Given the description of an element on the screen output the (x, y) to click on. 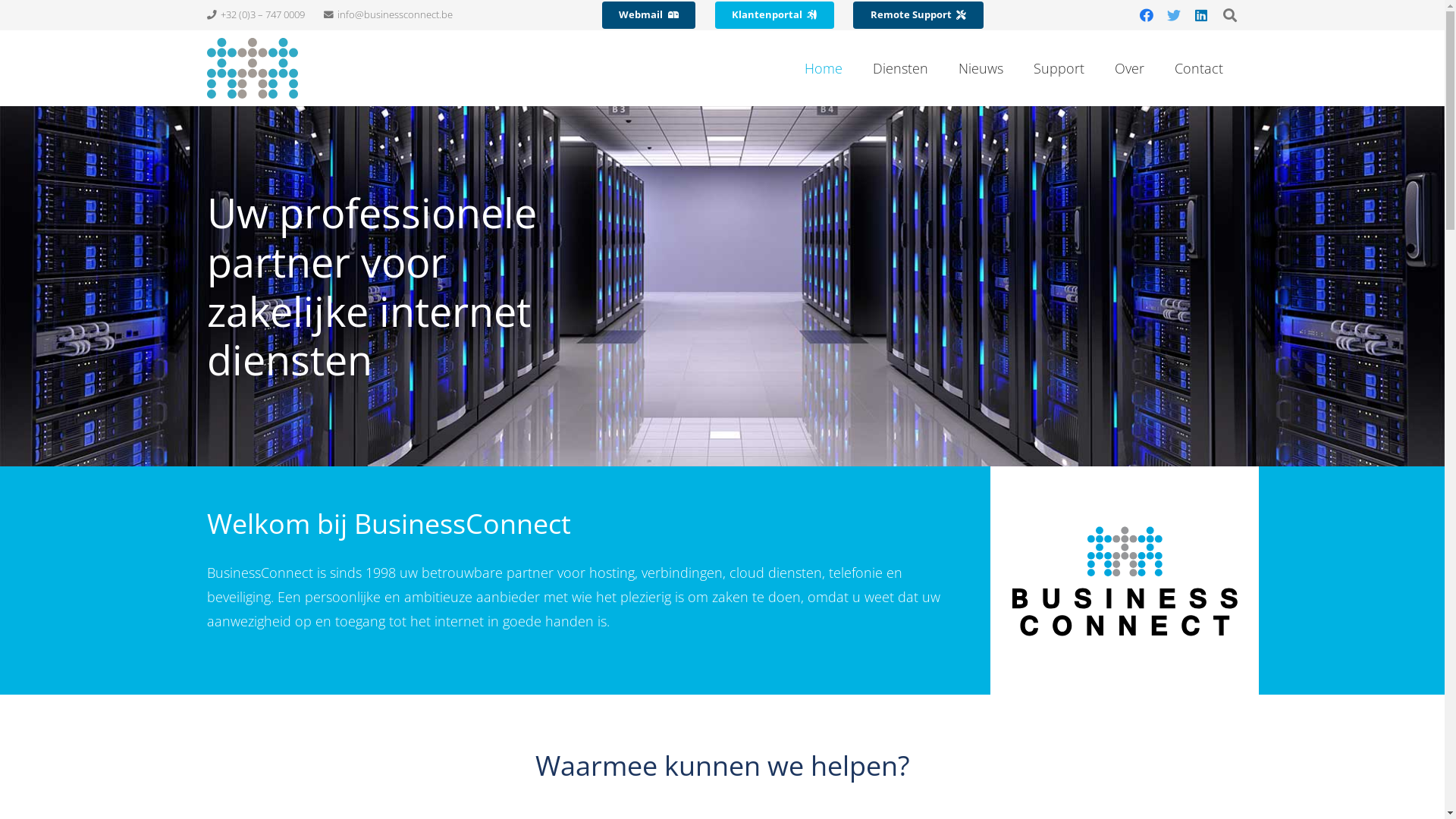
Klantenportal Element type: text (774, 14)
beveiliging Element type: text (237, 596)
Over Element type: text (1129, 68)
LinkedIn Element type: hover (1200, 14)
Support Element type: text (1057, 68)
hosting Element type: text (610, 572)
Home Element type: text (822, 68)
verbindingen Element type: text (681, 572)
Facebook Element type: hover (1146, 14)
Twitter Element type: hover (1173, 14)
Webmail Element type: text (649, 14)
Nieuws Element type: text (980, 68)
Remote Support Element type: text (918, 14)
cloud diensten, Element type: text (777, 572)
telefonie Element type: text (854, 572)
Contact Element type: text (1197, 68)
Diensten Element type: text (899, 68)
info@businessconnect.be Element type: text (387, 14)
